Given the description of an element on the screen output the (x, y) to click on. 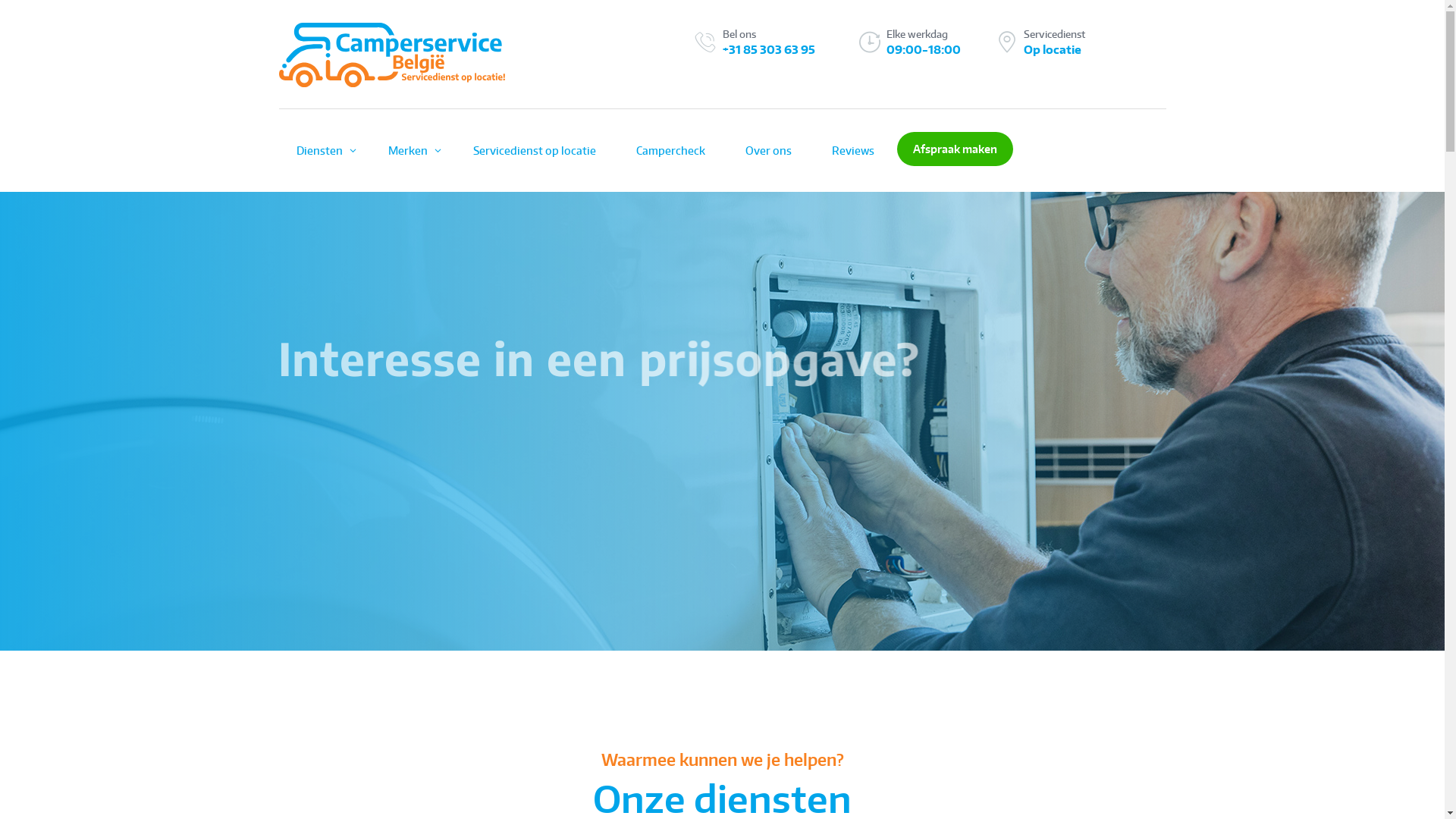
Reviews Element type: text (852, 150)
Afspraak maken Element type: text (954, 148)
Campercheck Element type: text (670, 150)
Over ons Element type: text (768, 150)
+31 85 303 63 95 Element type: text (767, 48)
Merken Element type: text (409, 150)
Servicedienst op locatie Element type: text (364, 507)
Diensten Element type: text (322, 150)
Servicedienst op locatie Element type: text (533, 150)
